Given the description of an element on the screen output the (x, y) to click on. 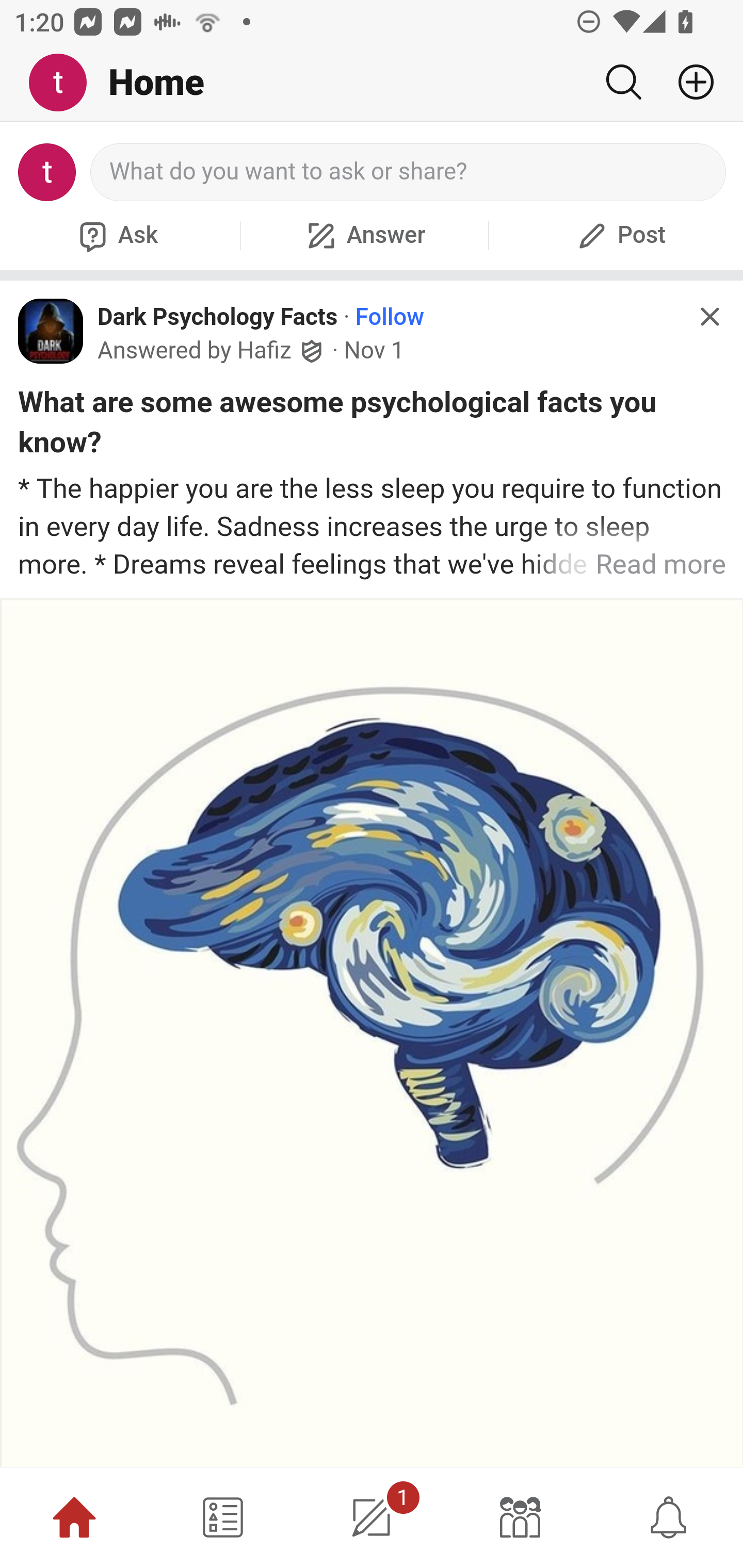
Me (64, 83)
Search (623, 82)
Add (688, 82)
What do you want to ask or share? (408, 172)
Ask (116, 234)
Answer (364, 234)
Post (618, 234)
Hide (709, 316)
Icon for Dark Psychology Facts (50, 330)
Dark Psychology Facts (218, 316)
Follow (389, 316)
1 (371, 1517)
